Given the description of an element on the screen output the (x, y) to click on. 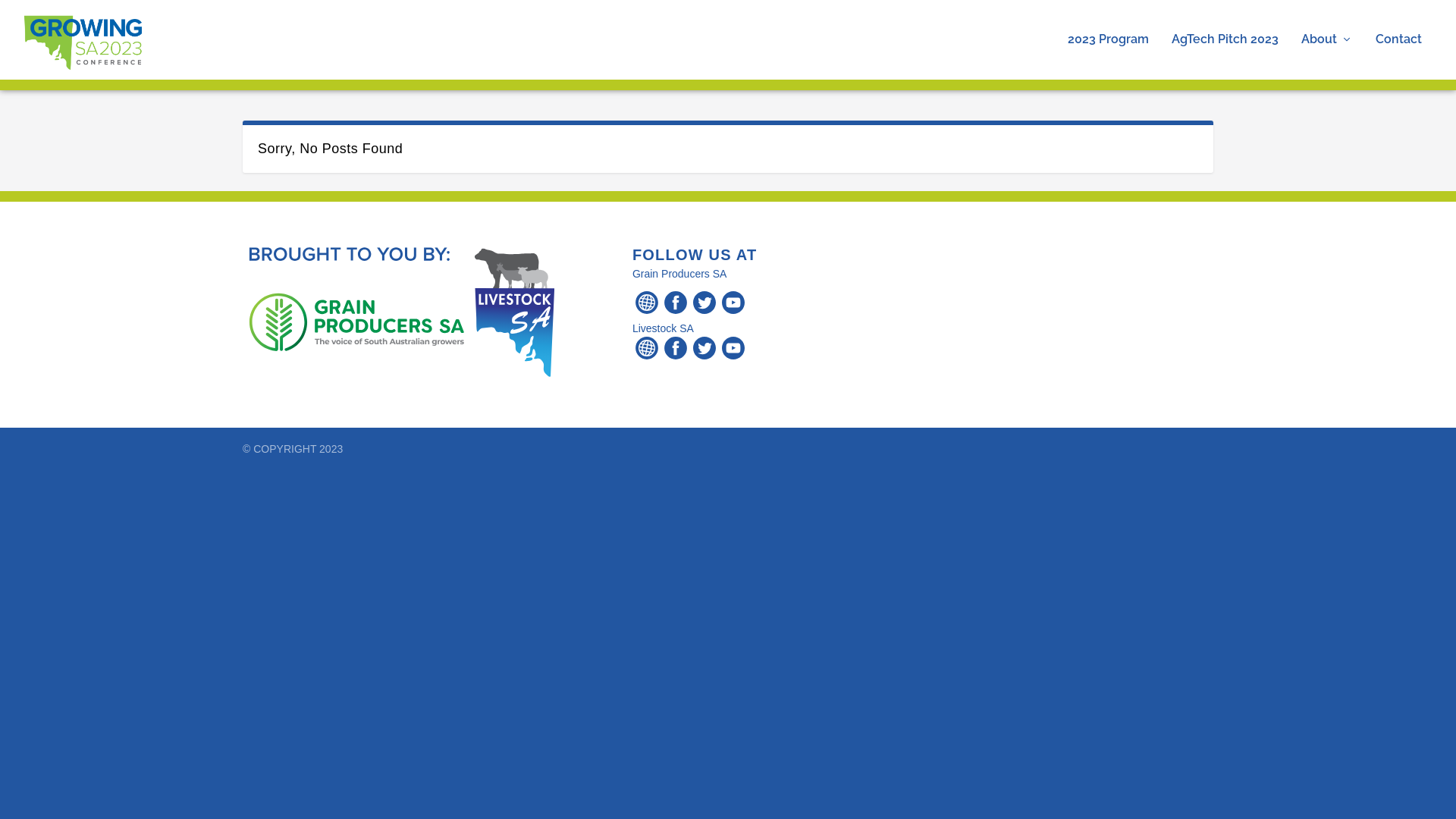
About Element type: text (1326, 56)
Contact Element type: text (1398, 56)
2023 Program Element type: text (1107, 56)
AgTech Pitch 2023 Element type: text (1224, 56)
